Given the description of an element on the screen output the (x, y) to click on. 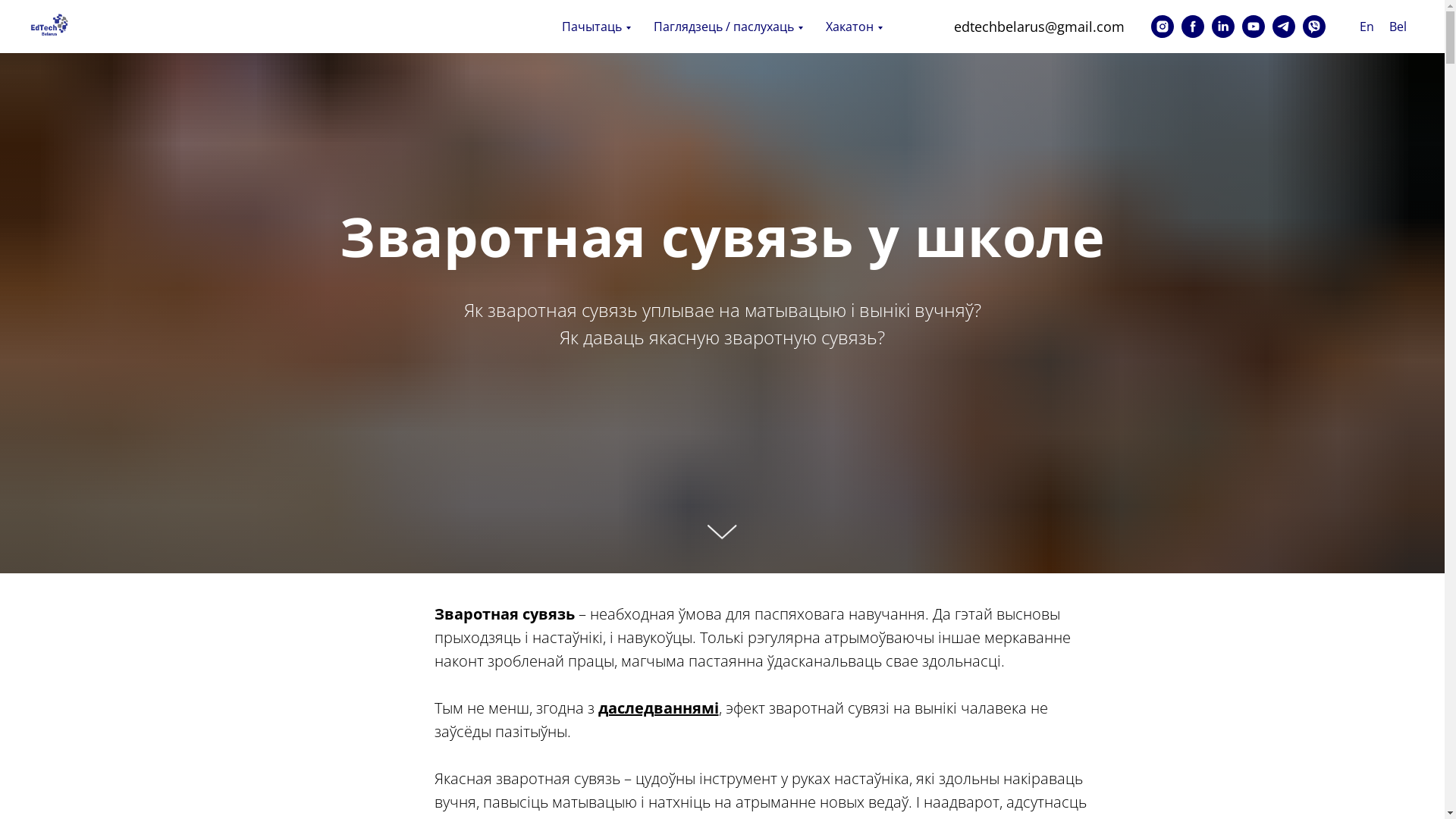
Bel Element type: text (1397, 26)
En Element type: text (1366, 26)
